Given the description of an element on the screen output the (x, y) to click on. 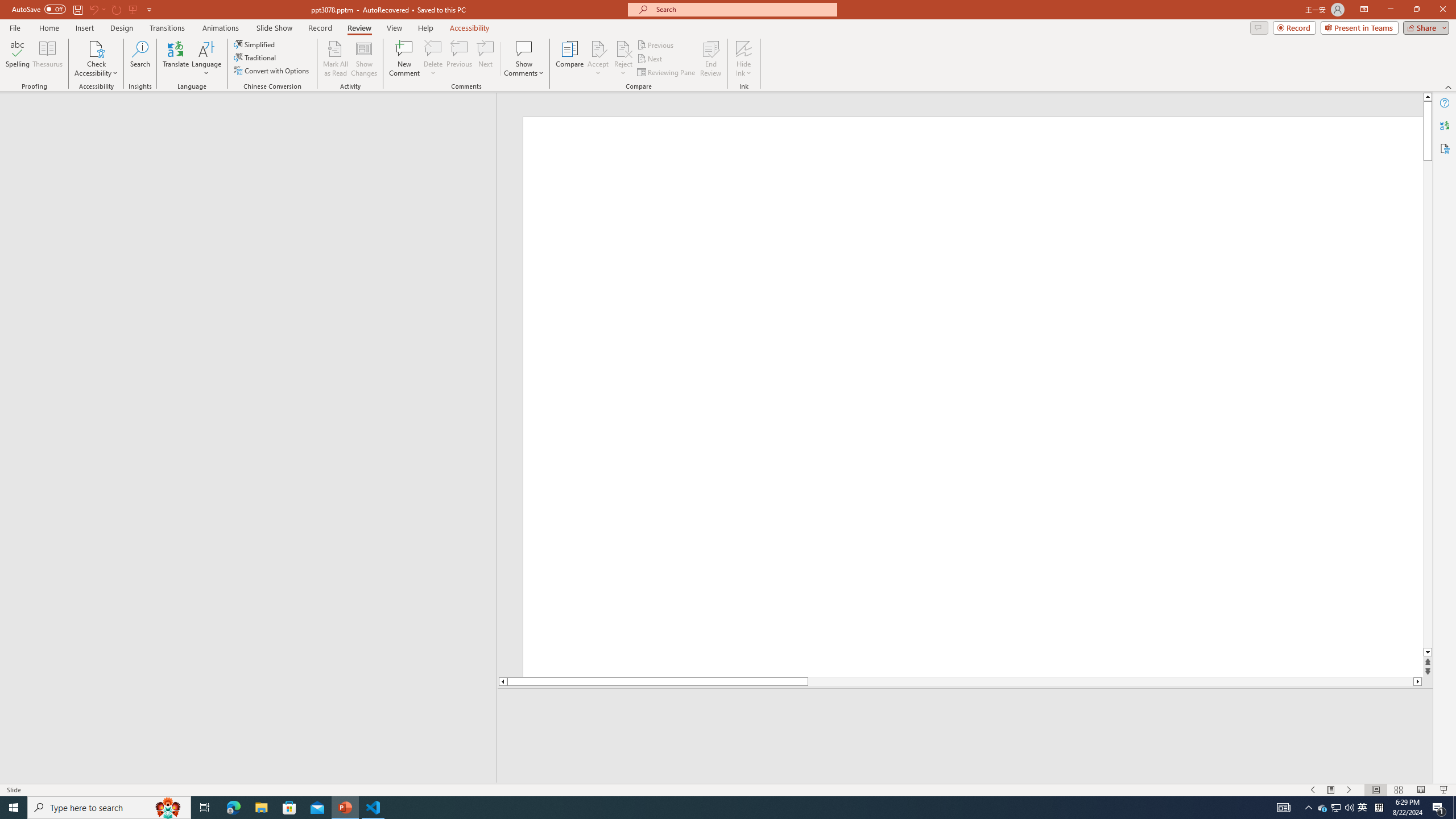
Traditional (255, 56)
Slide Notes (965, 705)
Spelling... (17, 58)
Mark All as Read (335, 58)
Search (140, 58)
Next (649, 58)
Reject (622, 58)
Translate (175, 58)
